Given the description of an element on the screen output the (x, y) to click on. 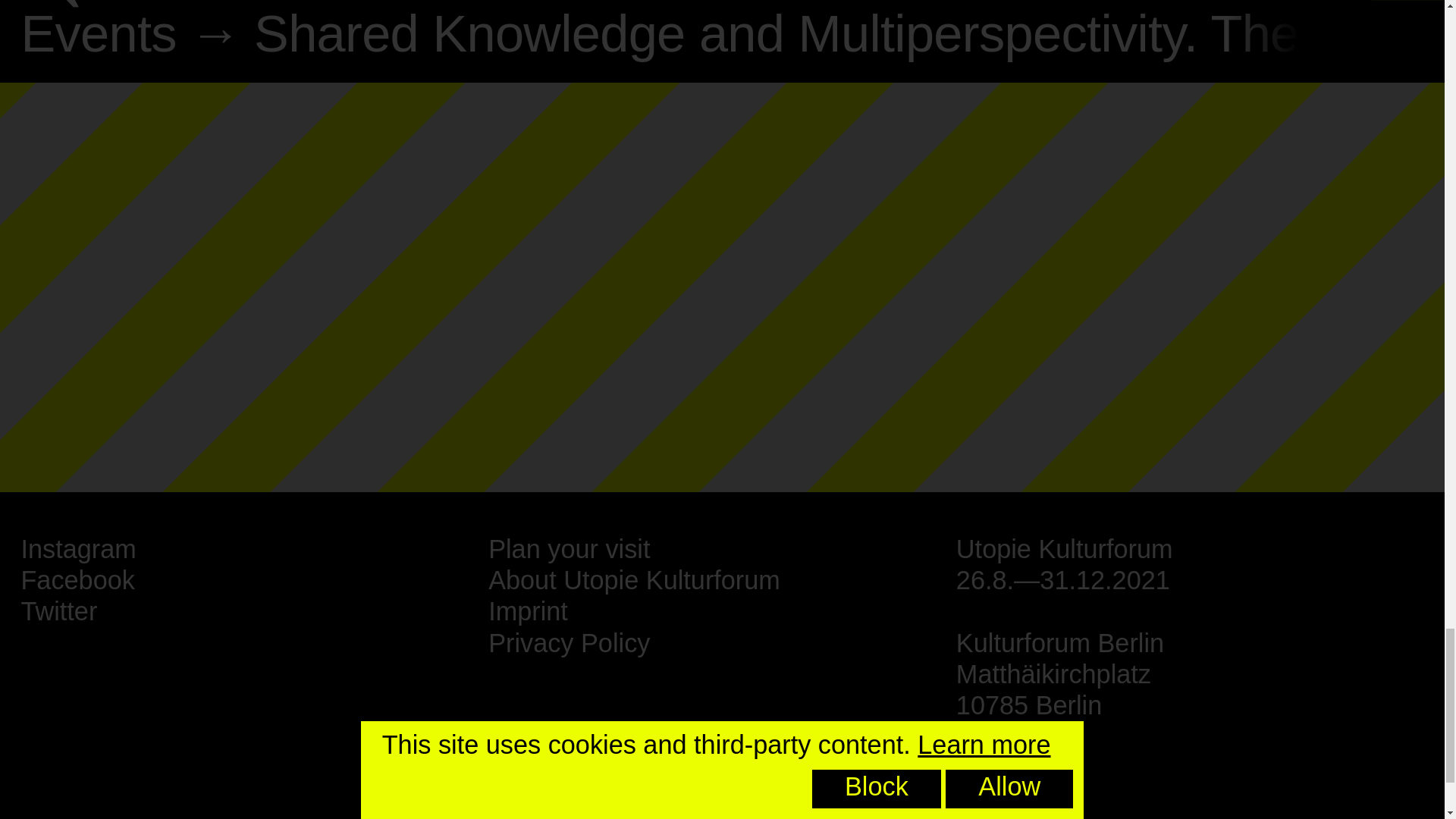
Instagram (77, 548)
Twitter (58, 611)
Imprint (527, 611)
About Utopie Kulturforum (633, 579)
Plan your visit (568, 548)
Privacy Policy (568, 642)
Facebook (76, 579)
